Given the description of an element on the screen output the (x, y) to click on. 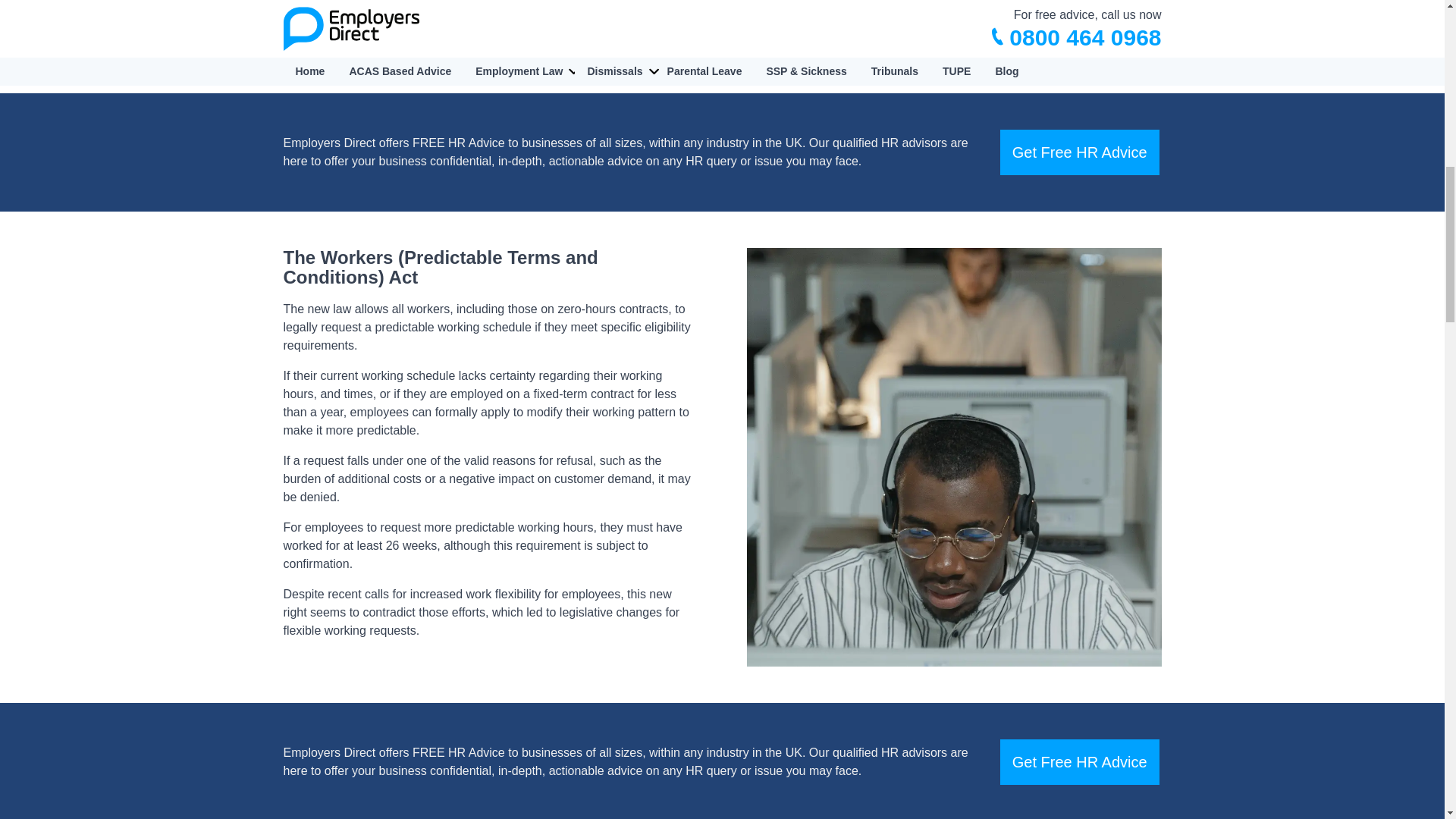
UK Employment Law specialists (872, 10)
Get Free HR Advice (1079, 152)
Get Free HR Advice (1079, 761)
